Given the description of an element on the screen output the (x, y) to click on. 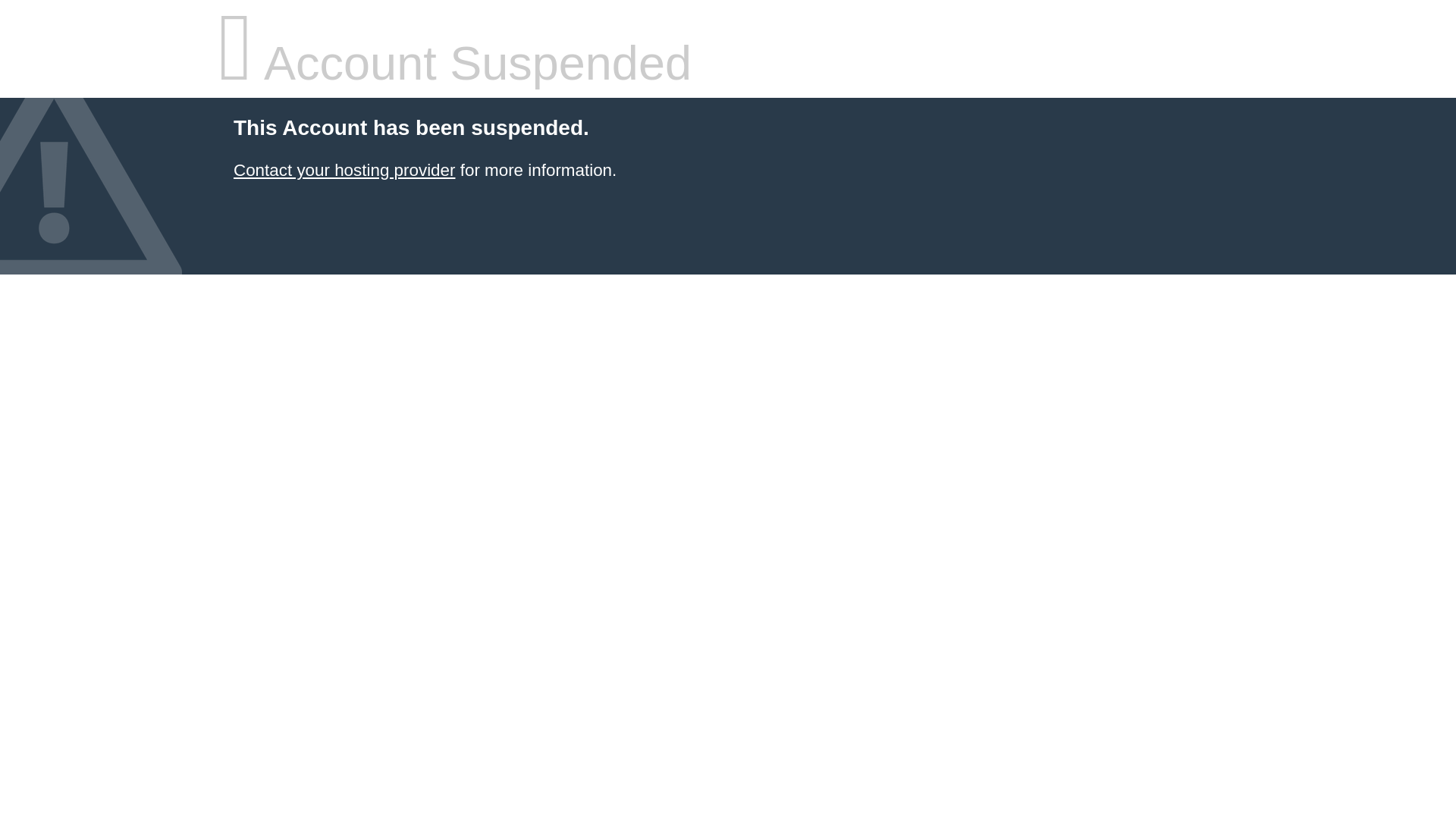
Contact your hosting provider (343, 169)
